Given the description of an element on the screen output the (x, y) to click on. 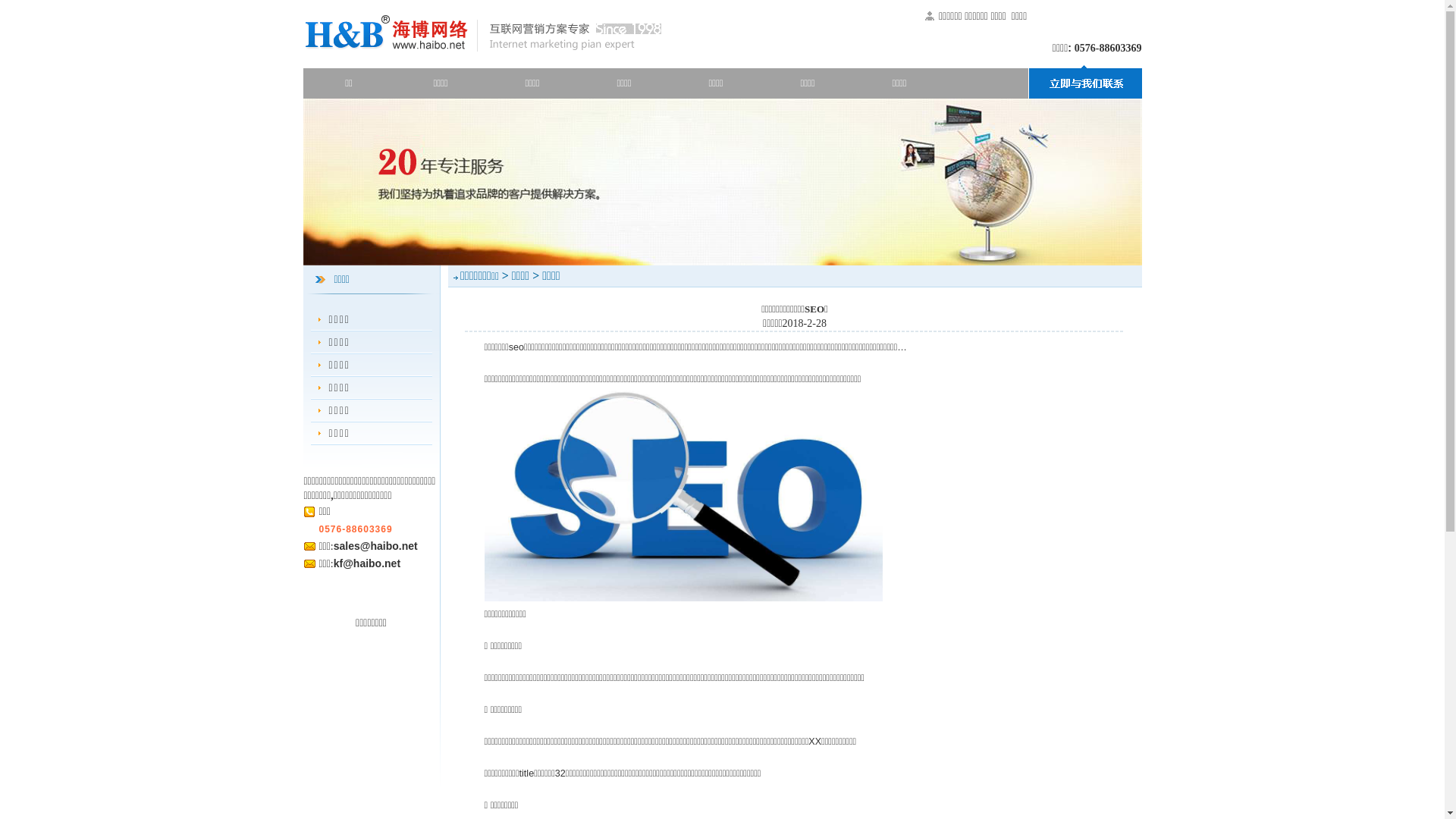
kf@haibo.net Element type: text (366, 563)
sales@haibo.net Element type: text (375, 545)
